Given the description of an element on the screen output the (x, y) to click on. 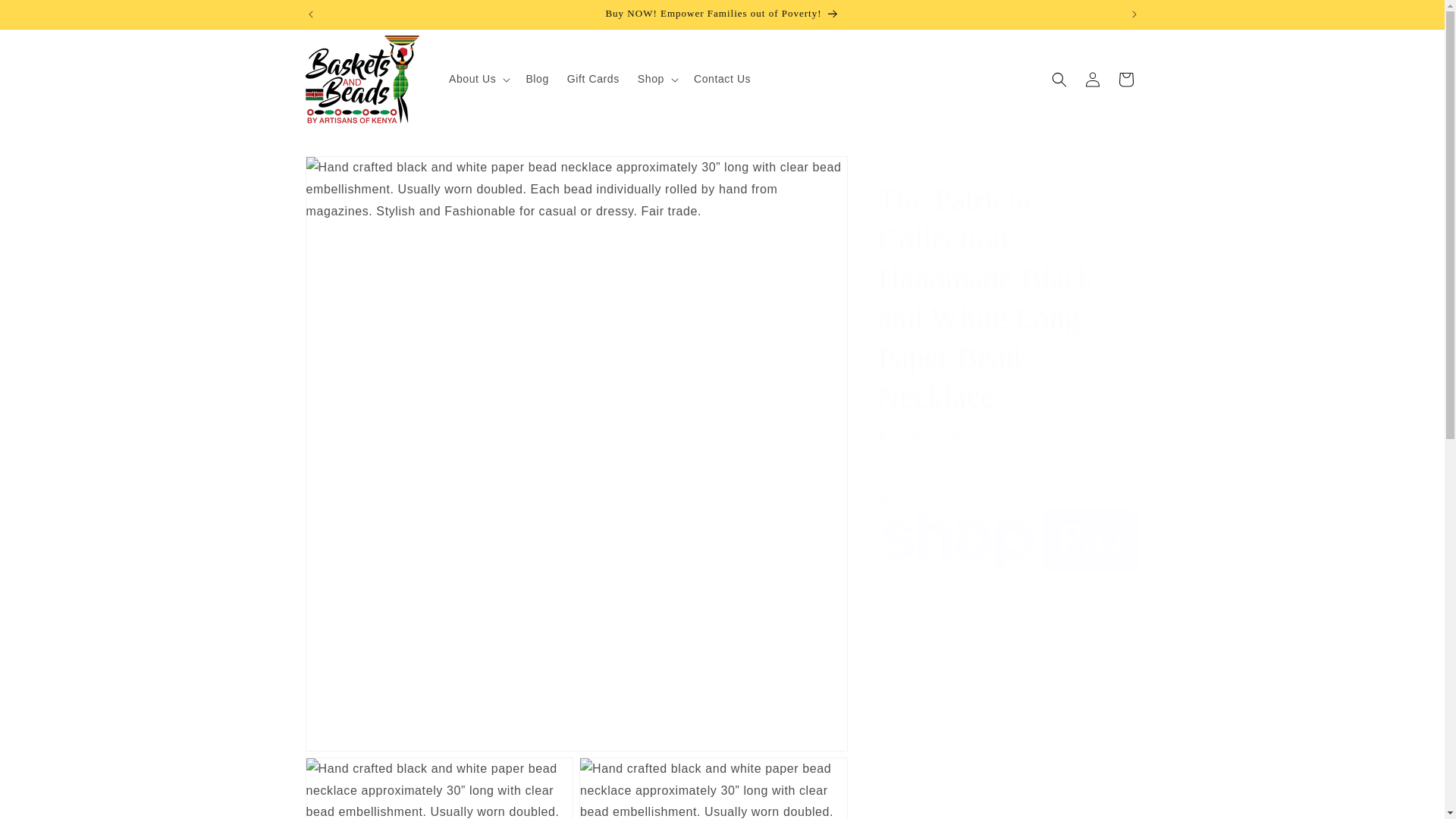
Open media 2 in modal (438, 788)
Buy NOW! Empower Families out of Poverty! (722, 14)
Blog (536, 79)
1 (931, 640)
Skip to content (45, 17)
Open media 3 in modal (713, 788)
